Given the description of an element on the screen output the (x, y) to click on. 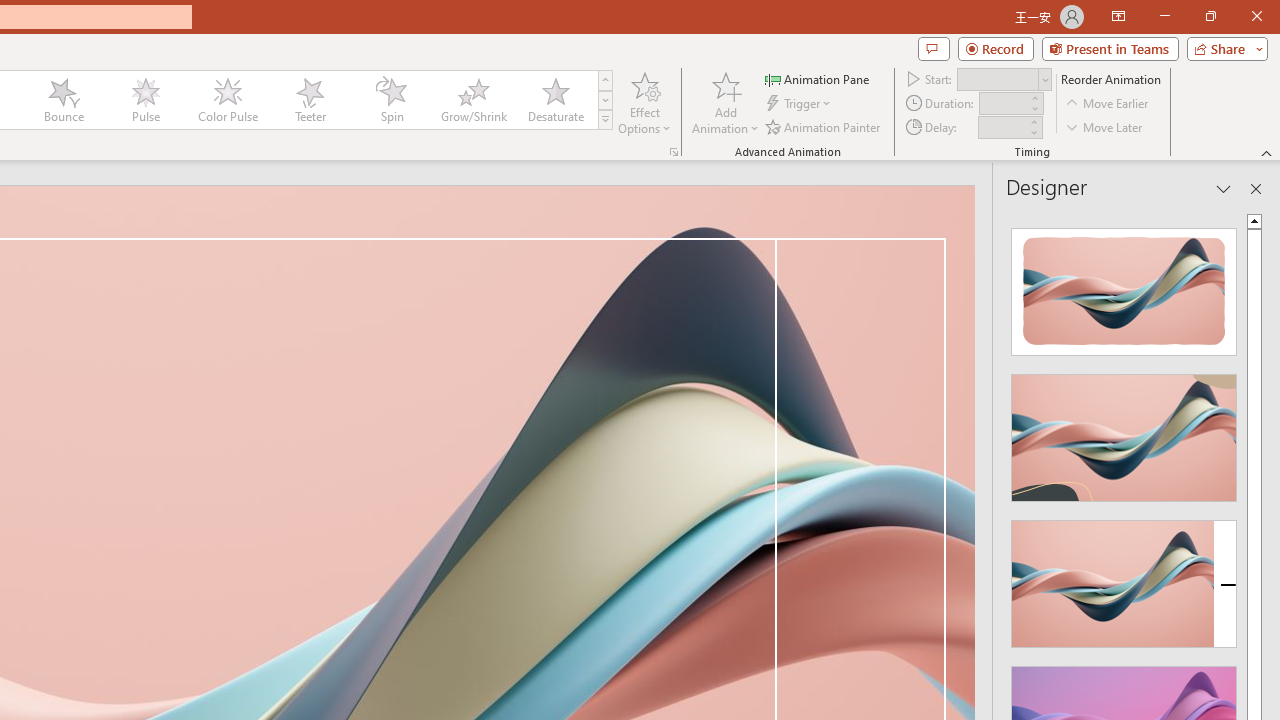
Pulse (145, 100)
Animation Delay (1002, 127)
Bounce (63, 100)
More Options... (673, 151)
Grow/Shrink (473, 100)
Teeter (309, 100)
Spin (391, 100)
Animation Duration (1003, 103)
Add Animation (725, 102)
